Given the description of an element on the screen output the (x, y) to click on. 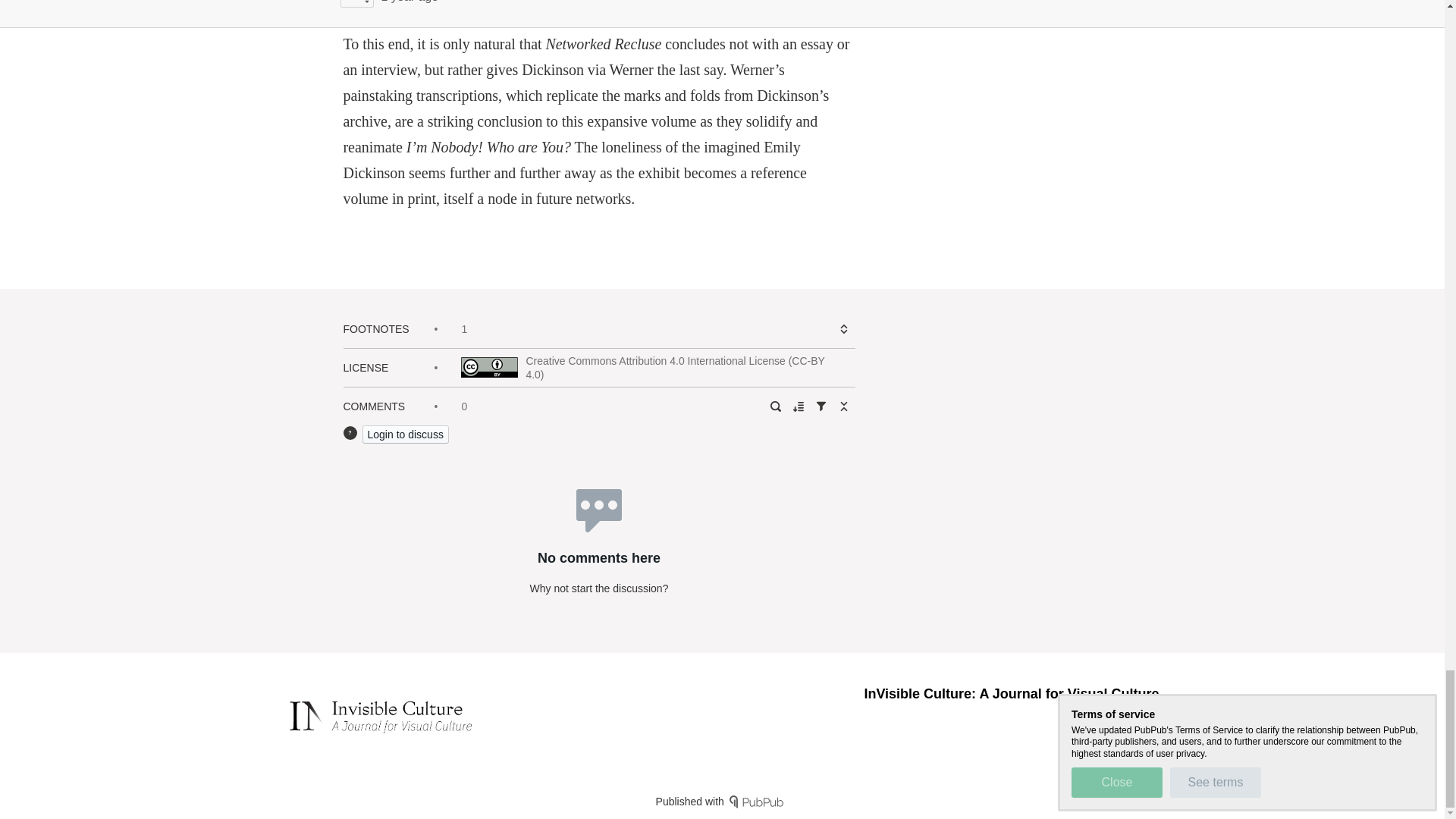
InVisible Culture: A Journal for Visual Culture (1010, 693)
Legal (1145, 720)
Login to discuss (405, 434)
RSS (1104, 720)
